Given the description of an element on the screen output the (x, y) to click on. 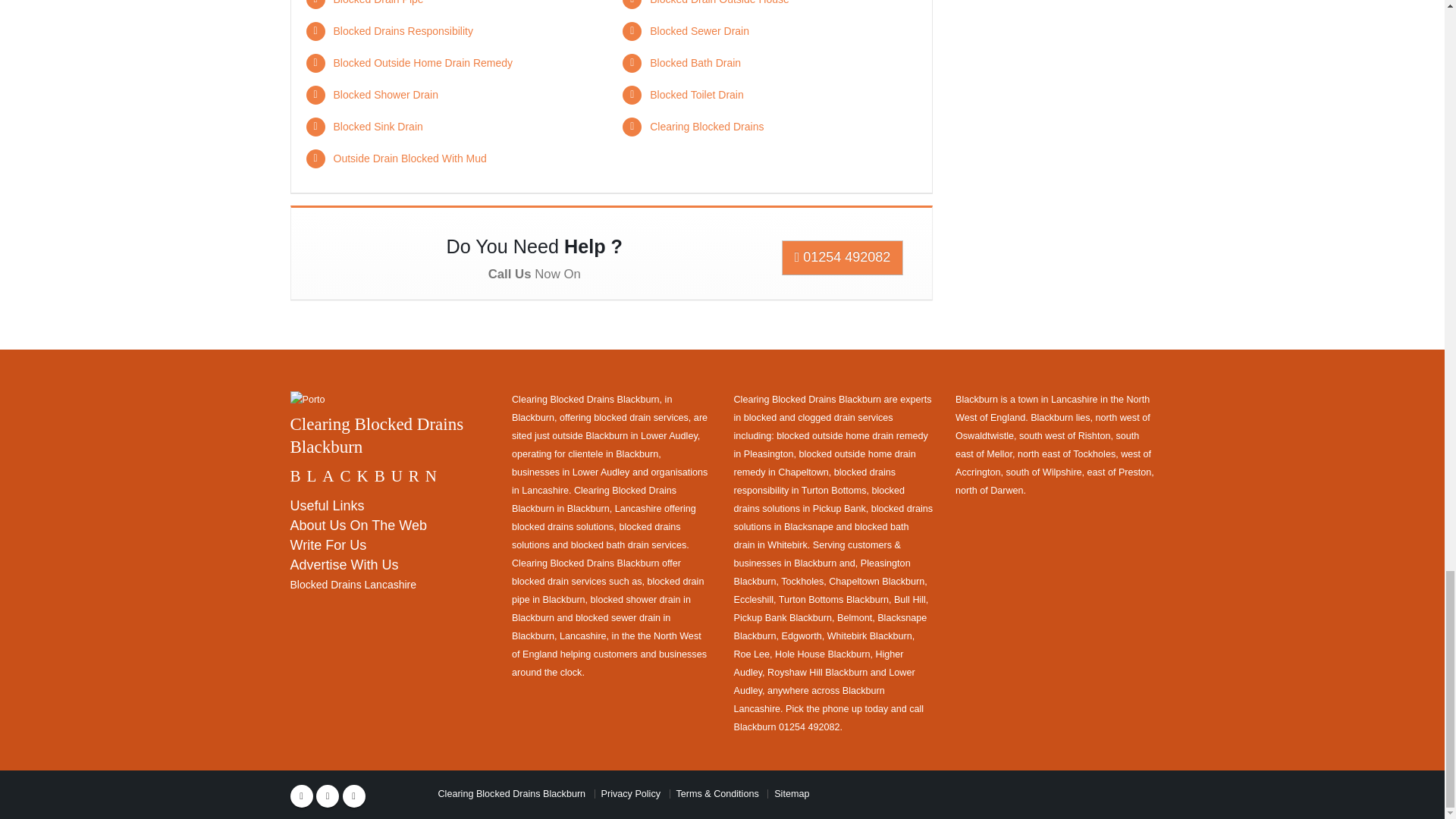
Blocked Shower Drain (386, 94)
Blocked Sink Drain (378, 126)
Blocked Outside Home Drain Remedy (423, 62)
Twitter (327, 795)
Blocked Drains Responsibility (403, 30)
01254 492082 (842, 257)
Blocked Drain Outside House (719, 2)
Blocked Bath Drain (695, 62)
Outside Drain Blocked With Mud (409, 158)
Blocked Toilet Drain (695, 94)
